Given the description of an element on the screen output the (x, y) to click on. 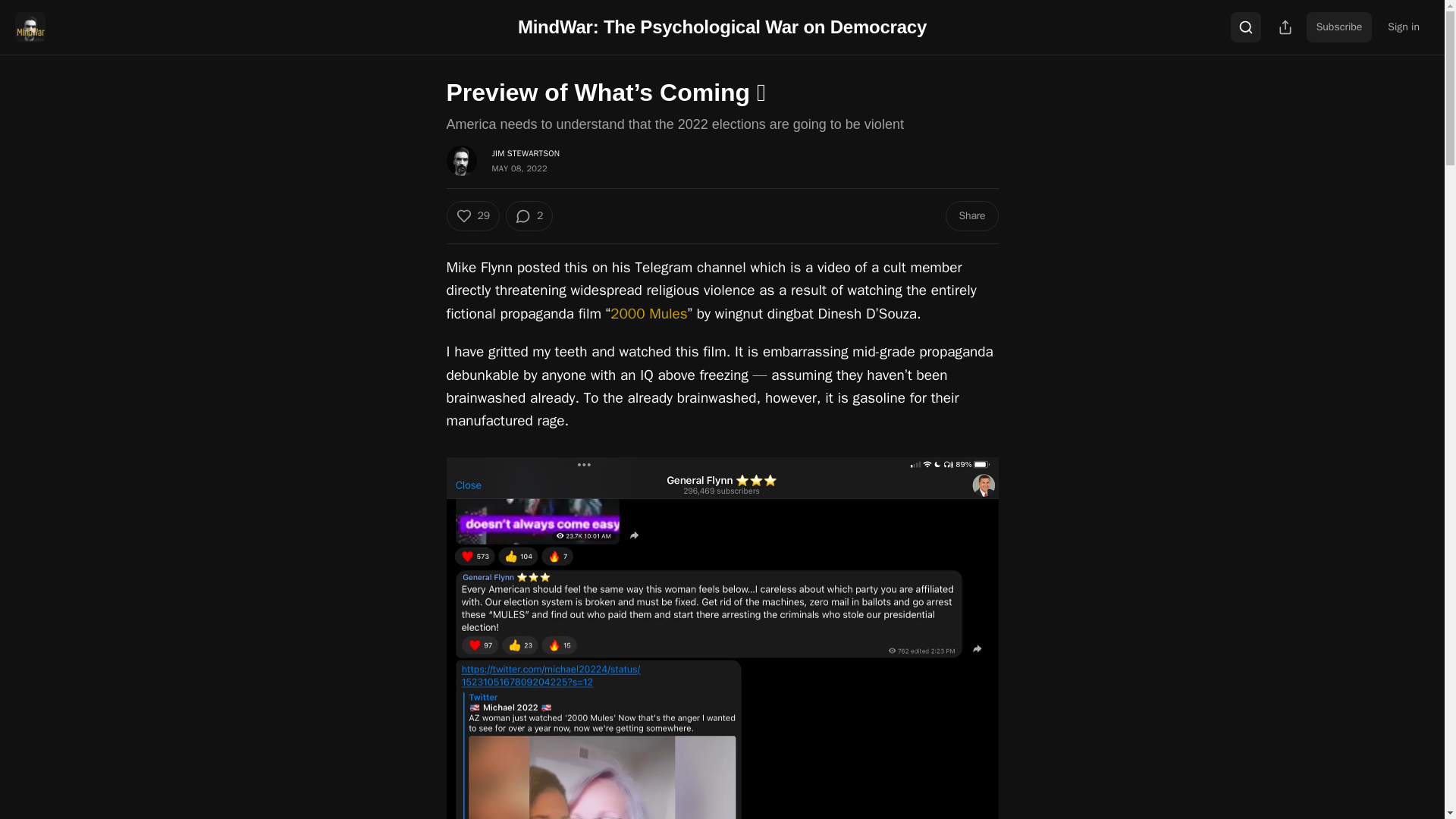
MindWar: The Psychological War on Democracy (722, 26)
JIM STEWARTSON (525, 153)
Sign in (1403, 27)
Share (970, 215)
2000 Mules (648, 313)
29 (472, 215)
Subscribe (1339, 27)
2 (529, 215)
